Given the description of an element on the screen output the (x, y) to click on. 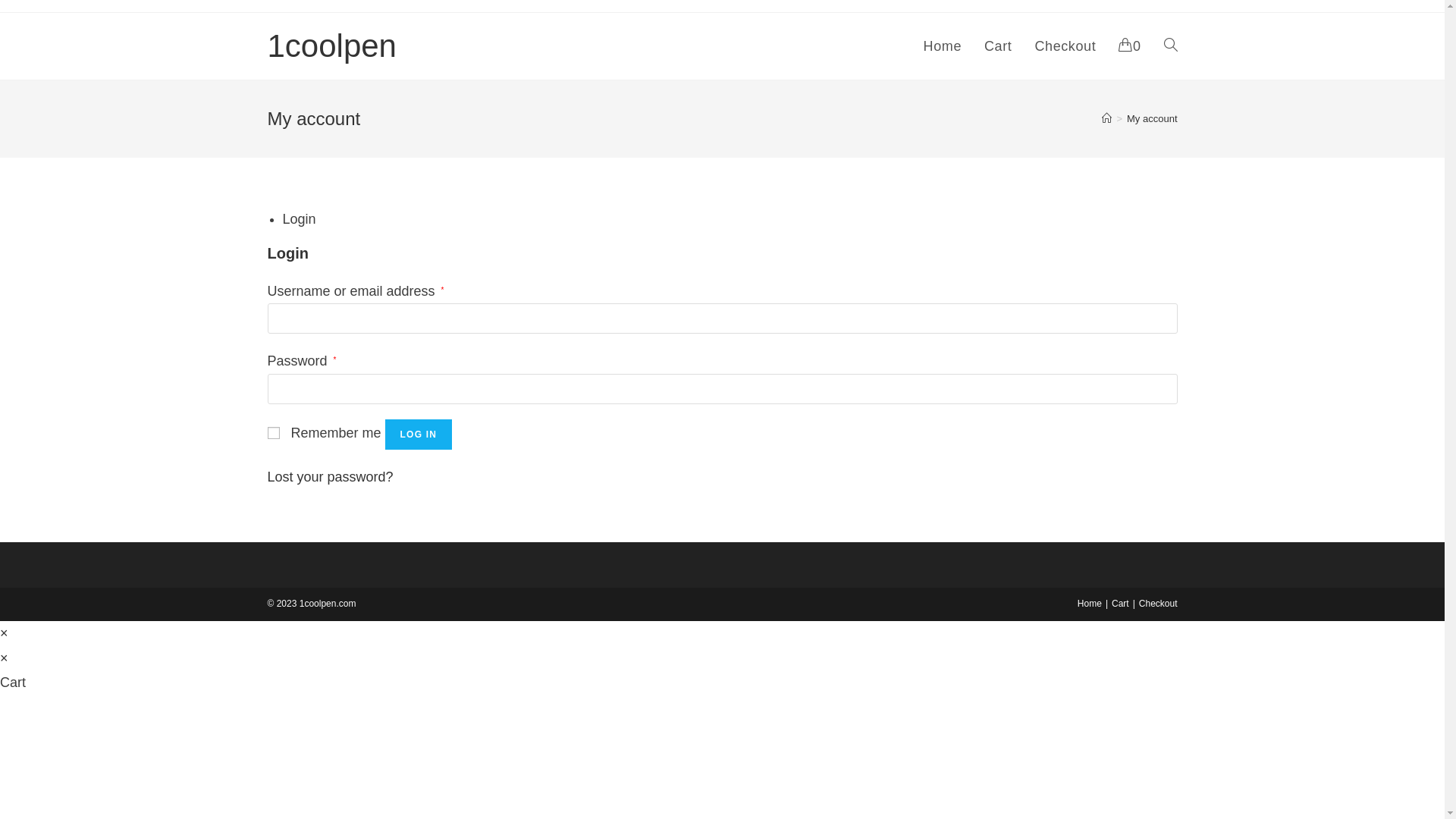
1coolpen Element type: text (330, 45)
Lost your password? Element type: text (329, 476)
Checkout Element type: text (1064, 45)
Checkout Element type: text (1158, 603)
Home Element type: text (942, 45)
0 Element type: text (1129, 45)
Cart Element type: text (997, 45)
LOG IN Element type: text (418, 434)
My account Element type: text (1151, 118)
Home Element type: text (1089, 603)
Toggle website search Element type: text (1170, 45)
Cart Element type: text (1120, 603)
